Given the description of an element on the screen output the (x, y) to click on. 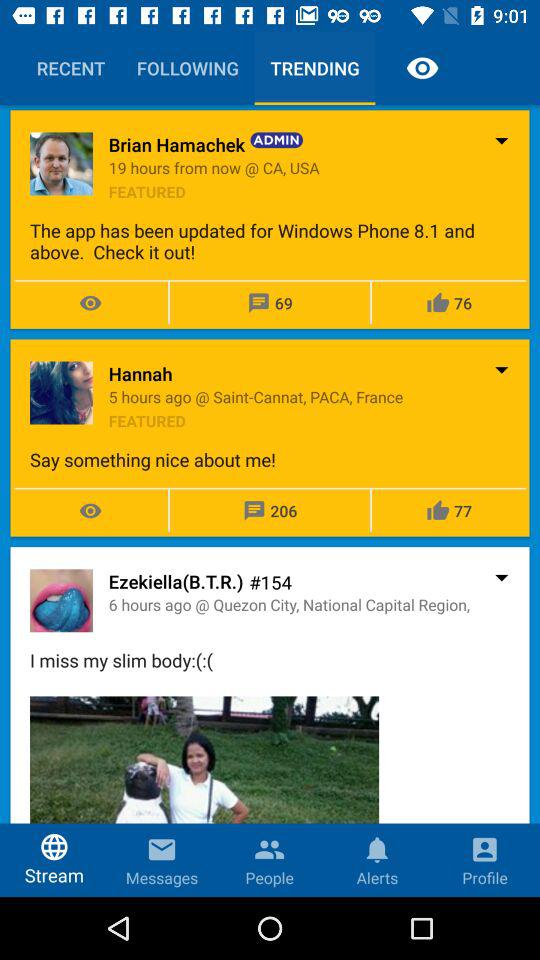
click downward arrow (500, 576)
select the image left to the text brian hamachek (61, 163)
move to image which is left tom the ezekiellabtr154 (61, 600)
click on number of views in second option (90, 511)
select the admin post (269, 219)
select the text recent which is at the top left corner of the page (70, 67)
click contacts icon (269, 844)
